Given the description of an element on the screen output the (x, y) to click on. 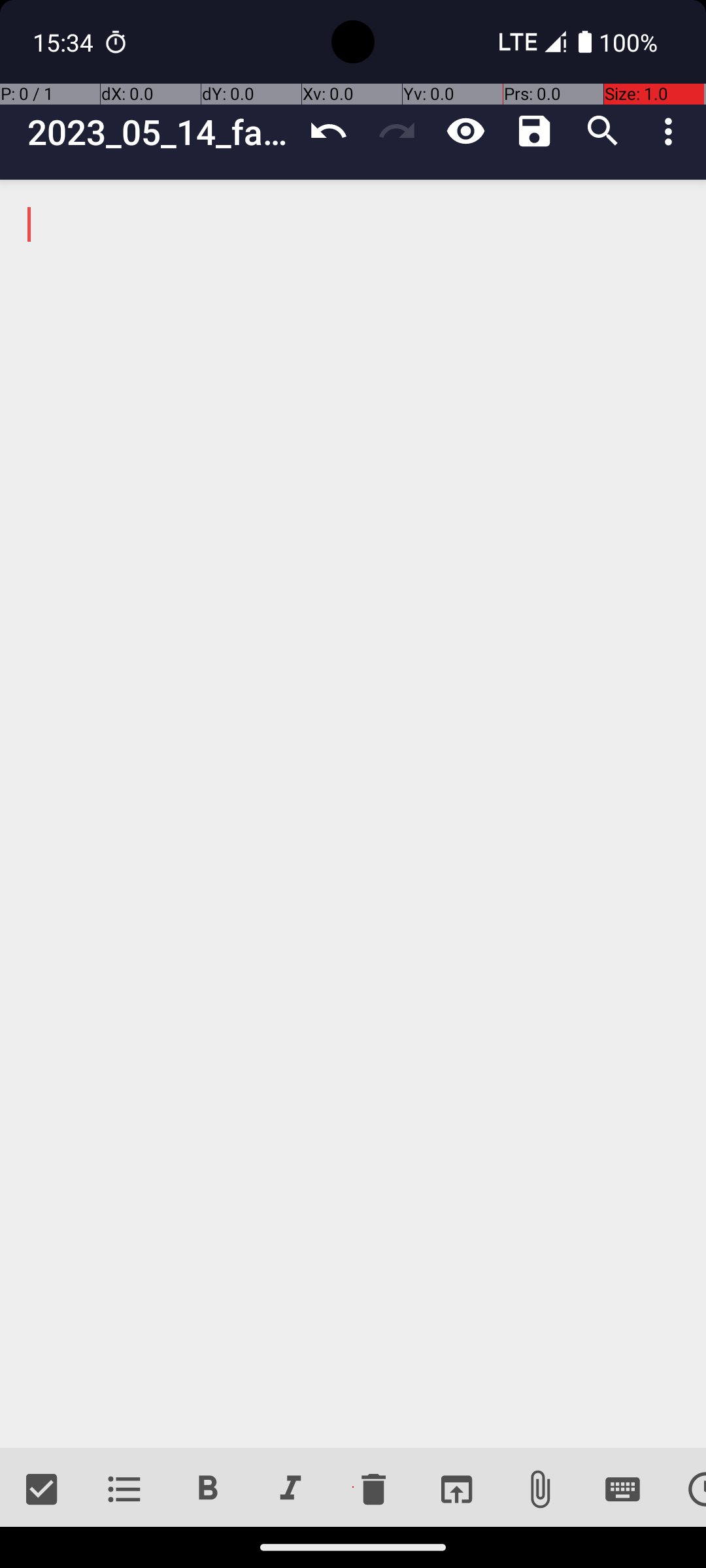
2023_05_14_favorite_book_quotes Element type: android.widget.TextView (160, 131)
